Given the description of an element on the screen output the (x, y) to click on. 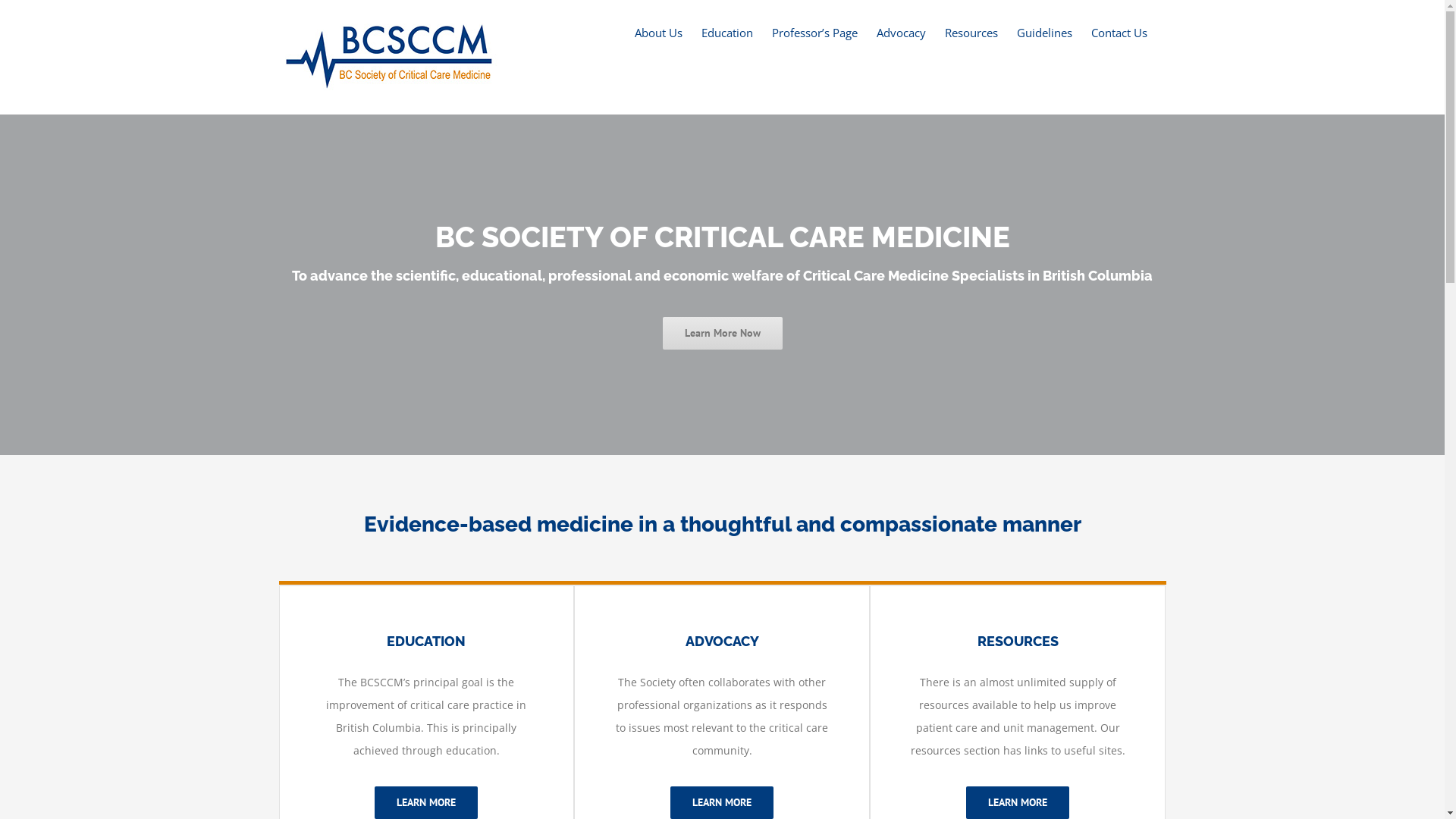
Resources Element type: text (970, 32)
About Us Element type: text (657, 32)
Education Element type: text (726, 32)
Guidelines Element type: text (1043, 32)
Advocacy Element type: text (900, 32)
Contact Us Element type: text (1118, 32)
Learn More Now Element type: text (722, 332)
